Given the description of an element on the screen output the (x, y) to click on. 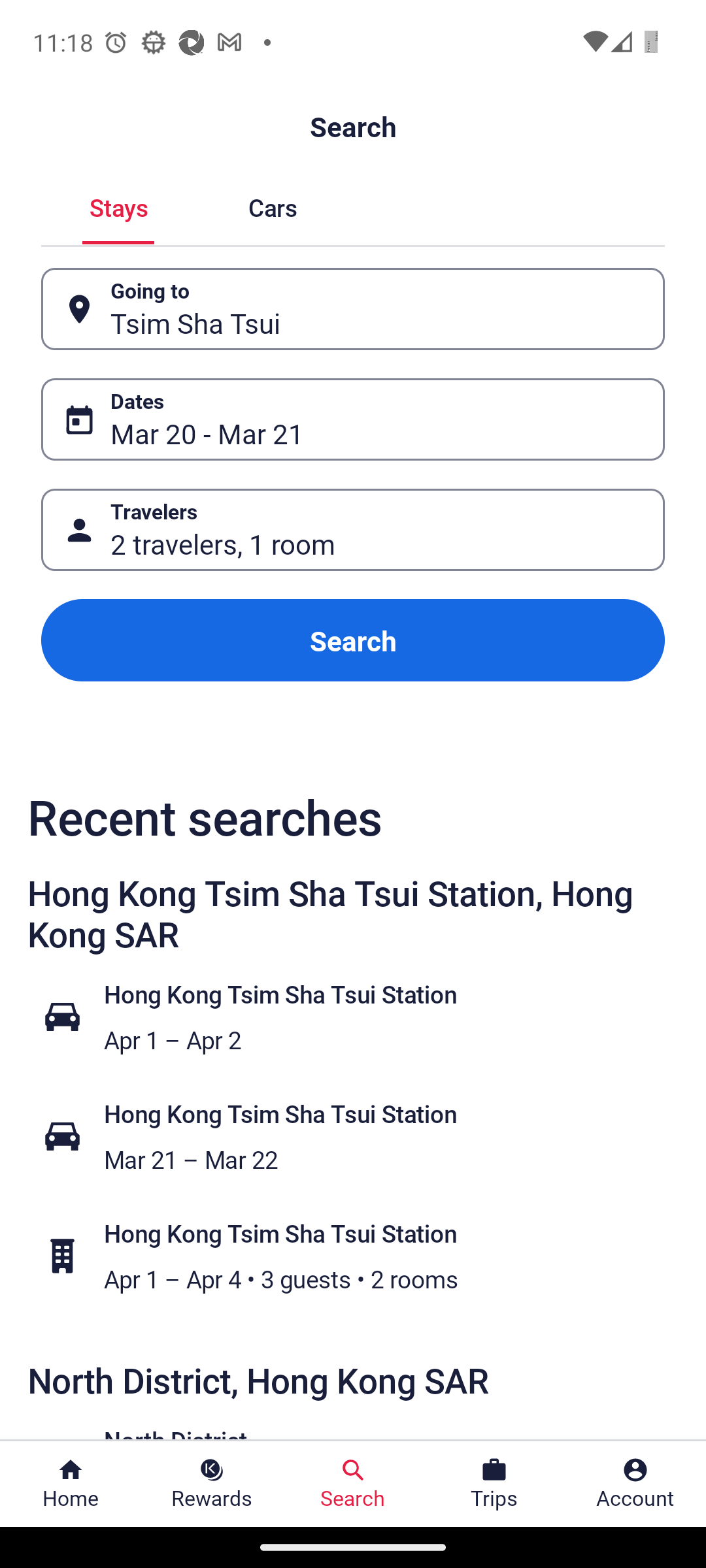
Cars (272, 205)
Going to Button Tsim Sha Tsui (352, 308)
Dates Button Mar 20 - Mar 21 (352, 418)
Travelers Button 2 travelers, 1 room (352, 529)
Search (352, 640)
Hong Kong Tsim Sha Tsui Station Apr 1 – Apr 2 (363, 1016)
Hong Kong Tsim Sha Tsui Station Mar 21 – Mar 22 (363, 1136)
Home Home Button (70, 1483)
Rewards Rewards Button (211, 1483)
Trips Trips Button (493, 1483)
Account Profile. Button (635, 1483)
